Given the description of an element on the screen output the (x, y) to click on. 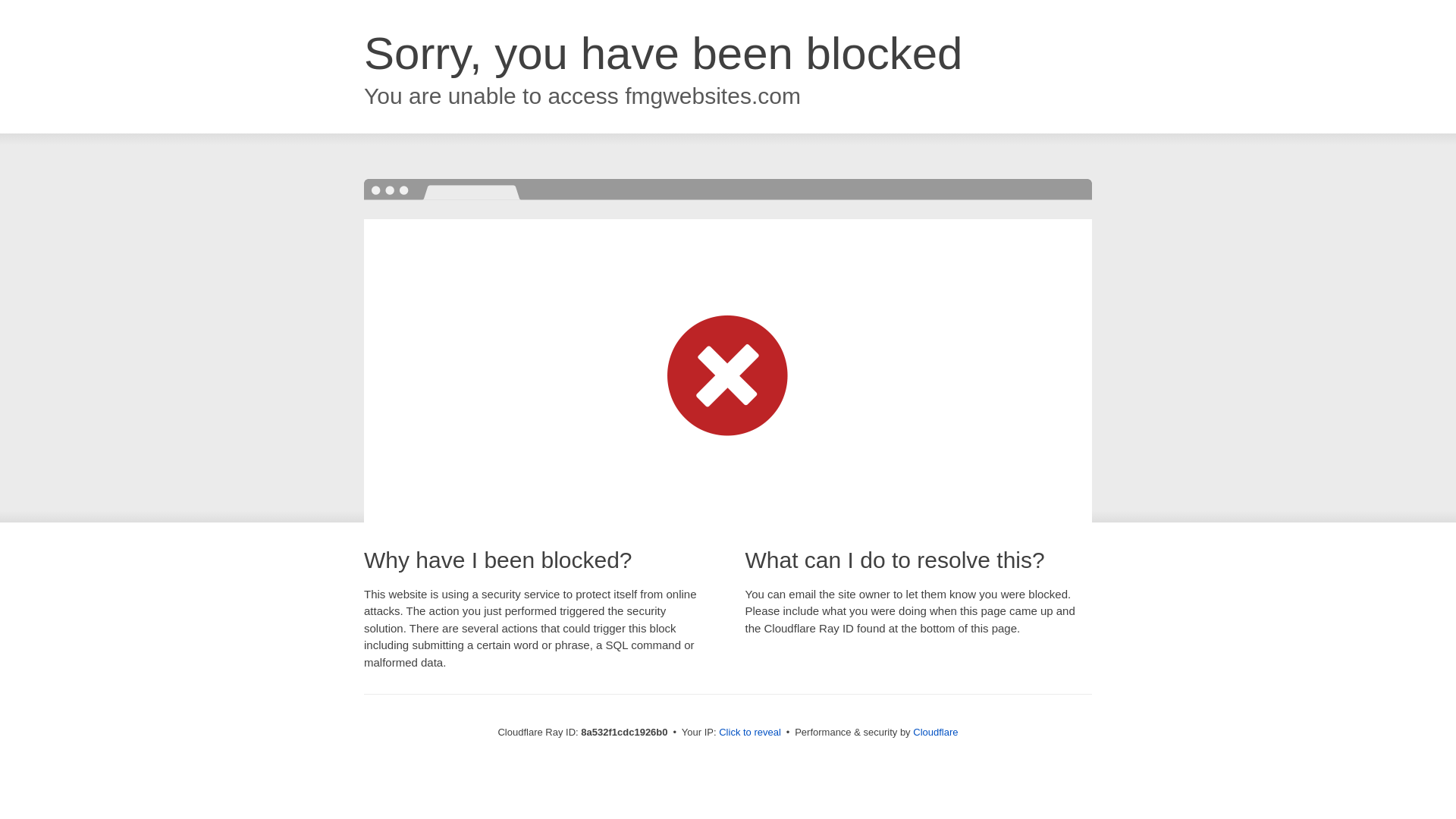
Cloudflare (935, 731)
Click to reveal (749, 732)
